Given the description of an element on the screen output the (x, y) to click on. 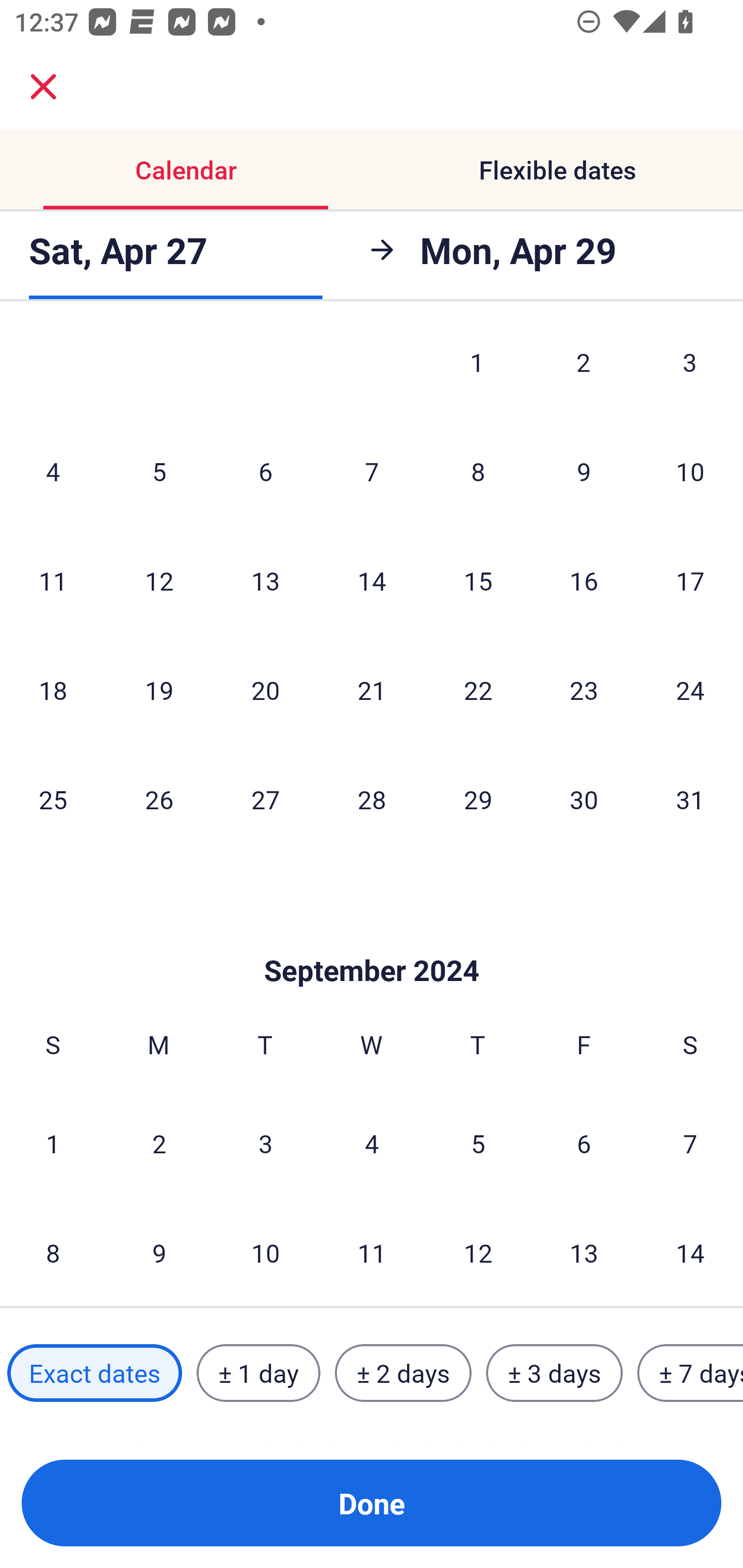
close. (43, 86)
Flexible dates (557, 170)
1 Thursday, August 1, 2024 (477, 371)
2 Friday, August 2, 2024 (583, 371)
3 Saturday, August 3, 2024 (689, 371)
4 Sunday, August 4, 2024 (53, 470)
5 Monday, August 5, 2024 (159, 470)
6 Tuesday, August 6, 2024 (265, 470)
7 Wednesday, August 7, 2024 (371, 470)
8 Thursday, August 8, 2024 (477, 470)
9 Friday, August 9, 2024 (584, 470)
10 Saturday, August 10, 2024 (690, 470)
11 Sunday, August 11, 2024 (53, 580)
12 Monday, August 12, 2024 (159, 580)
13 Tuesday, August 13, 2024 (265, 580)
14 Wednesday, August 14, 2024 (371, 580)
15 Thursday, August 15, 2024 (477, 580)
16 Friday, August 16, 2024 (584, 580)
17 Saturday, August 17, 2024 (690, 580)
18 Sunday, August 18, 2024 (53, 689)
19 Monday, August 19, 2024 (159, 689)
20 Tuesday, August 20, 2024 (265, 689)
21 Wednesday, August 21, 2024 (371, 689)
22 Thursday, August 22, 2024 (477, 689)
23 Friday, August 23, 2024 (584, 689)
24 Saturday, August 24, 2024 (690, 689)
25 Sunday, August 25, 2024 (53, 798)
26 Monday, August 26, 2024 (159, 798)
27 Tuesday, August 27, 2024 (265, 798)
28 Wednesday, August 28, 2024 (371, 798)
29 Thursday, August 29, 2024 (477, 798)
30 Friday, August 30, 2024 (584, 798)
31 Saturday, August 31, 2024 (690, 798)
Skip to Done (371, 939)
1 Sunday, September 1, 2024 (53, 1142)
2 Monday, September 2, 2024 (159, 1142)
3 Tuesday, September 3, 2024 (265, 1142)
4 Wednesday, September 4, 2024 (371, 1142)
5 Thursday, September 5, 2024 (477, 1142)
6 Friday, September 6, 2024 (584, 1142)
7 Saturday, September 7, 2024 (690, 1142)
8 Sunday, September 8, 2024 (53, 1252)
9 Monday, September 9, 2024 (159, 1252)
10 Tuesday, September 10, 2024 (265, 1252)
11 Wednesday, September 11, 2024 (371, 1252)
12 Thursday, September 12, 2024 (477, 1252)
13 Friday, September 13, 2024 (584, 1252)
14 Saturday, September 14, 2024 (690, 1252)
Exact dates (94, 1372)
± 1 day (258, 1372)
